Given the description of an element on the screen output the (x, y) to click on. 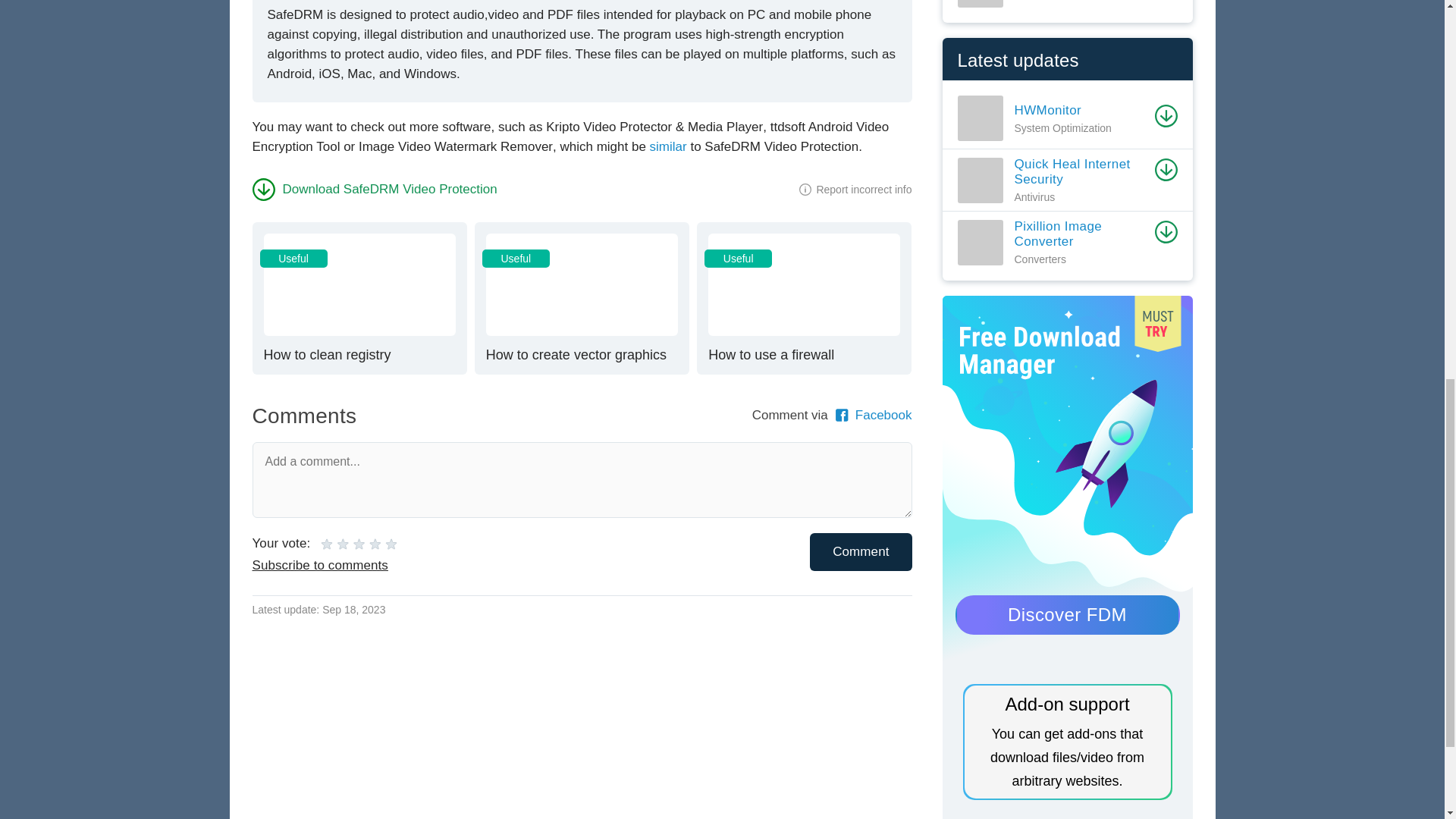
Comment (860, 551)
2 (358, 297)
Xilisoft Video Converter (334, 542)
5 (1056, 3)
Download SafeDRM Video Protection (358, 542)
Comment (581, 297)
similar (373, 188)
1 (860, 551)
4 (668, 146)
3 (804, 297)
